Given the description of an element on the screen output the (x, y) to click on. 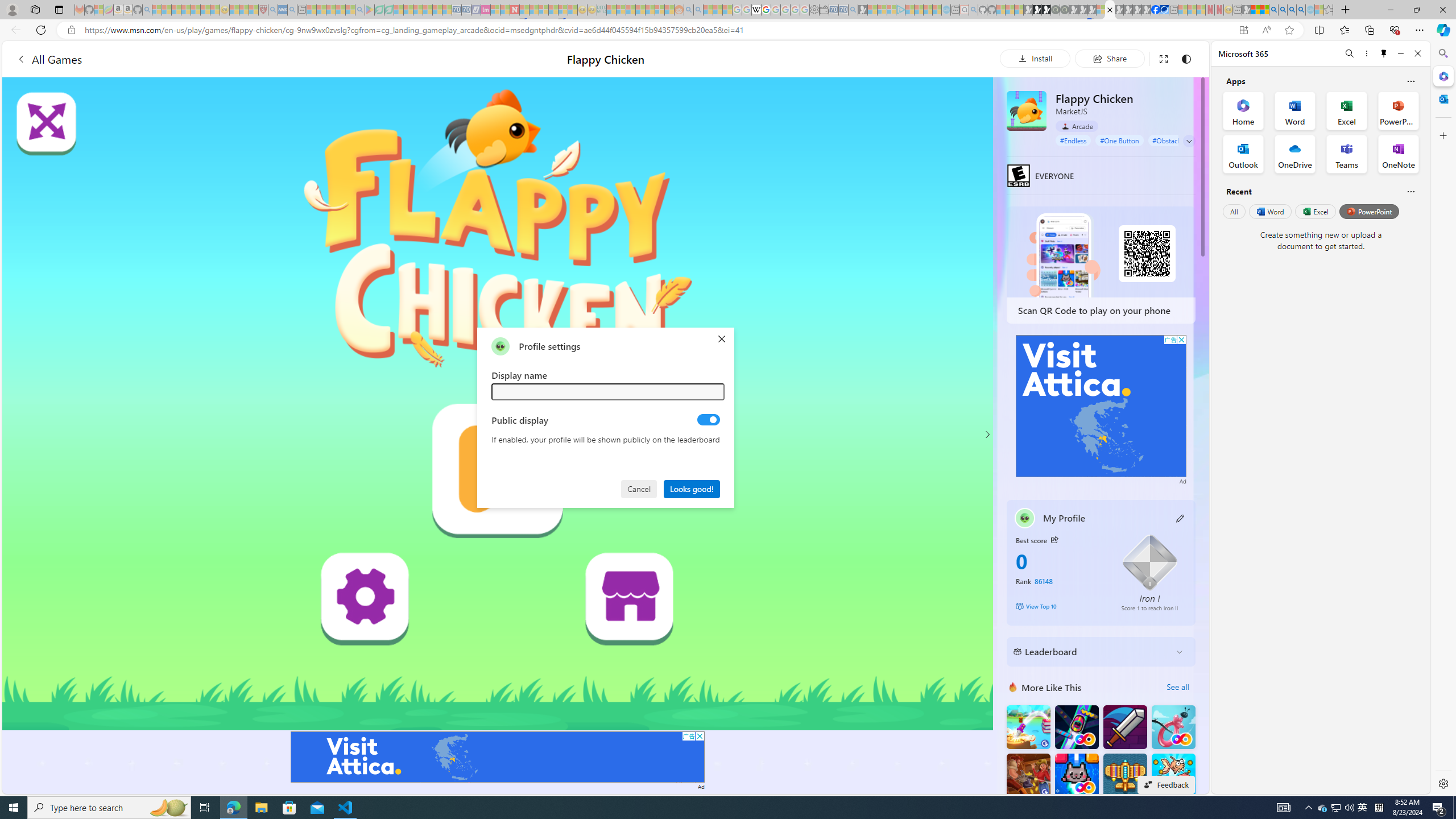
Outlook Office App (1243, 154)
All (1233, 210)
Expert Portfolios - Sleeping (639, 9)
Is this helpful? (1410, 191)
Word Office App (1295, 110)
Atlantic Sky Hunter (1124, 775)
Class: expand-arrow neutral (1188, 141)
